Given the description of an element on the screen output the (x, y) to click on. 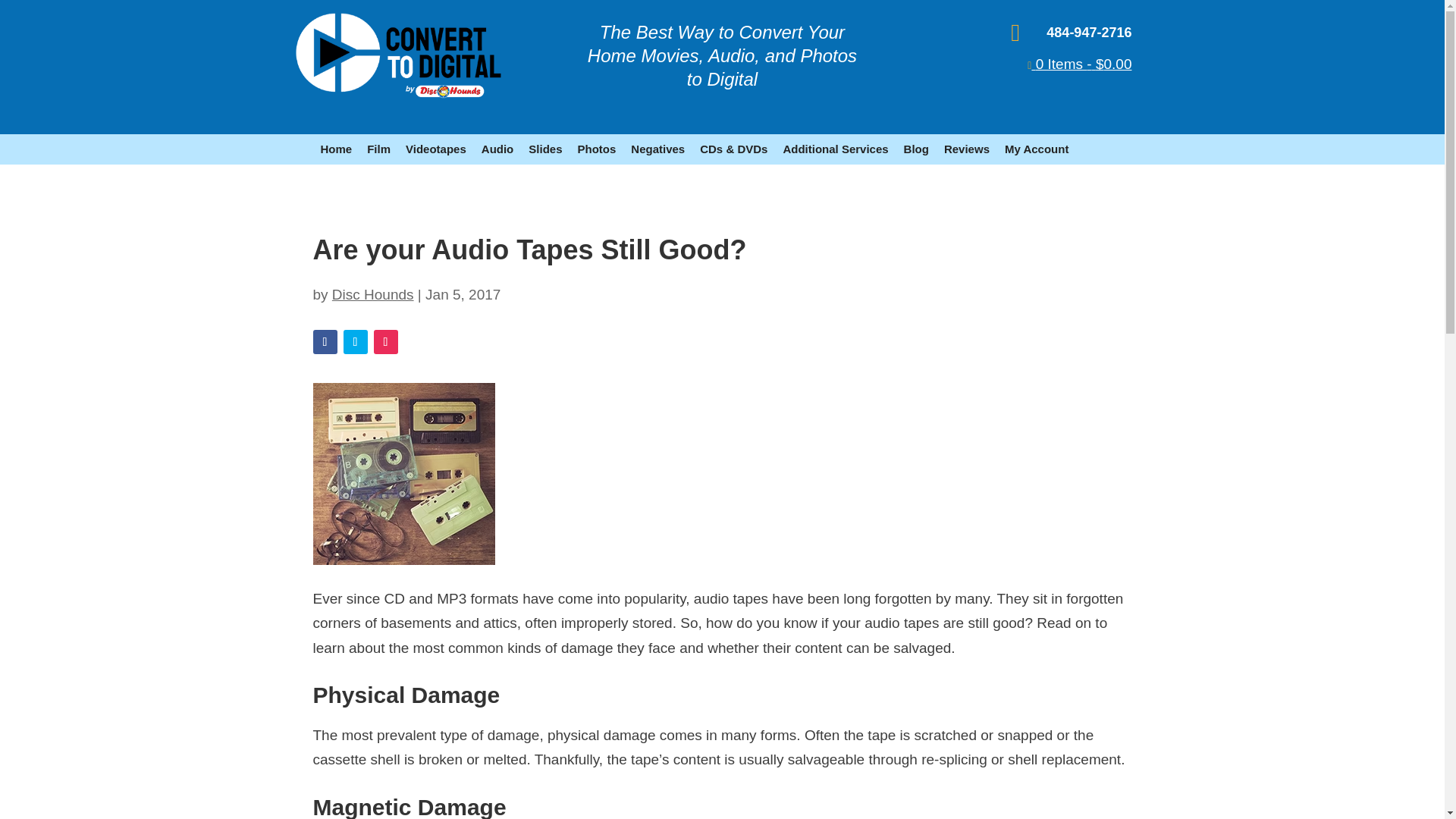
Videotapes (435, 149)
Follow on Facebook (324, 341)
Audio (497, 149)
Follow on Twitter (354, 341)
Slides (545, 149)
Reviews (966, 149)
Home (336, 149)
Photos (596, 149)
Additional Services (834, 149)
Follow on Instagram (384, 341)
Negatives (658, 149)
Cart (1079, 64)
Posts by Disc Hounds (372, 294)
Blog (916, 149)
Disc Hounds (372, 294)
